Given the description of an element on the screen output the (x, y) to click on. 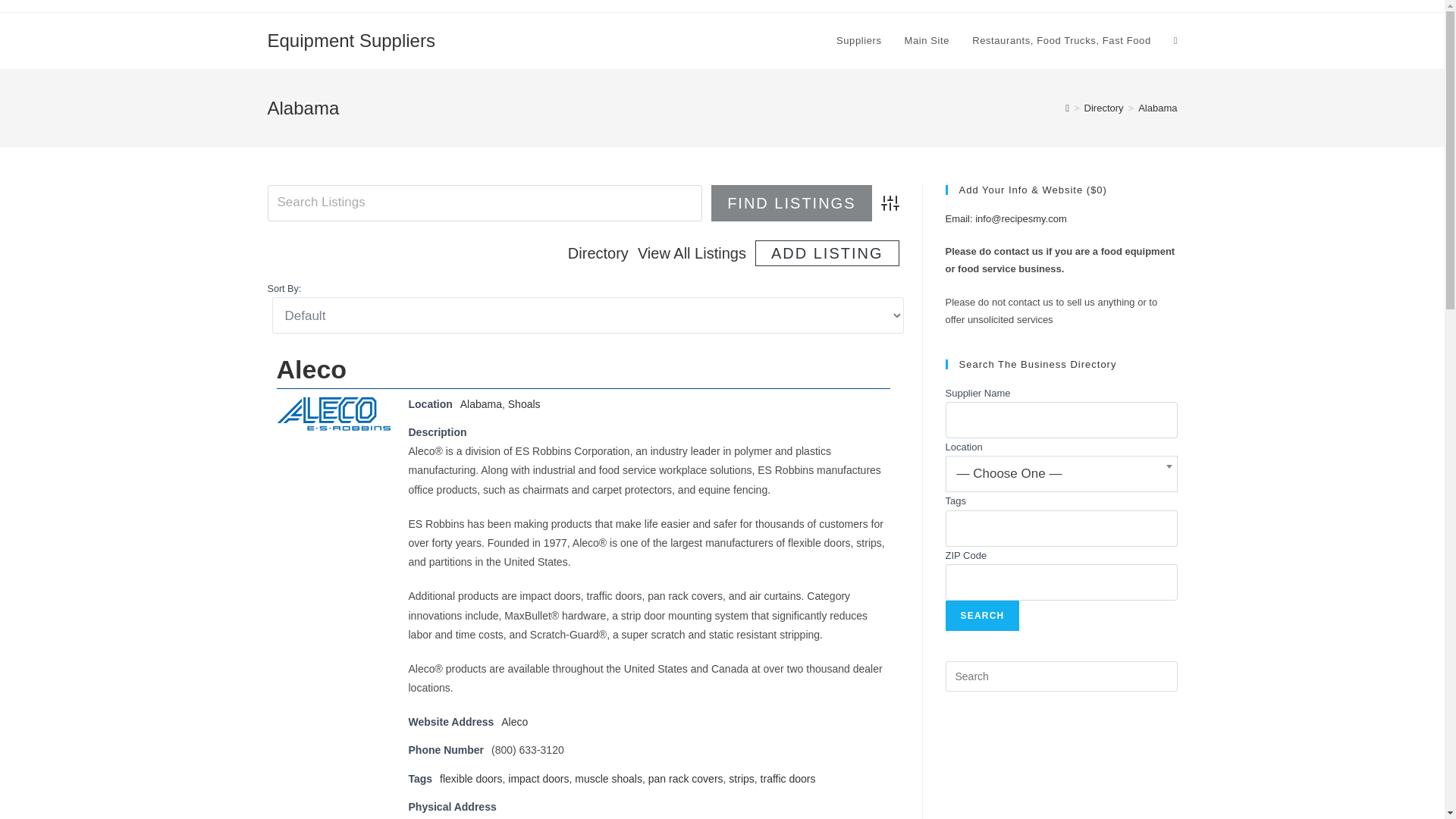
Main Site (926, 40)
Directory (1104, 107)
Search (981, 615)
Alabama (481, 404)
Find Listings (790, 203)
Directory (597, 252)
Find Listings (790, 203)
strips (741, 778)
Aleco (311, 369)
Suppliers (859, 40)
Shoals (524, 404)
muscle shoals (608, 778)
Equipment Suppliers (349, 40)
Aleco (513, 721)
Aleco (513, 721)
